Given the description of an element on the screen output the (x, y) to click on. 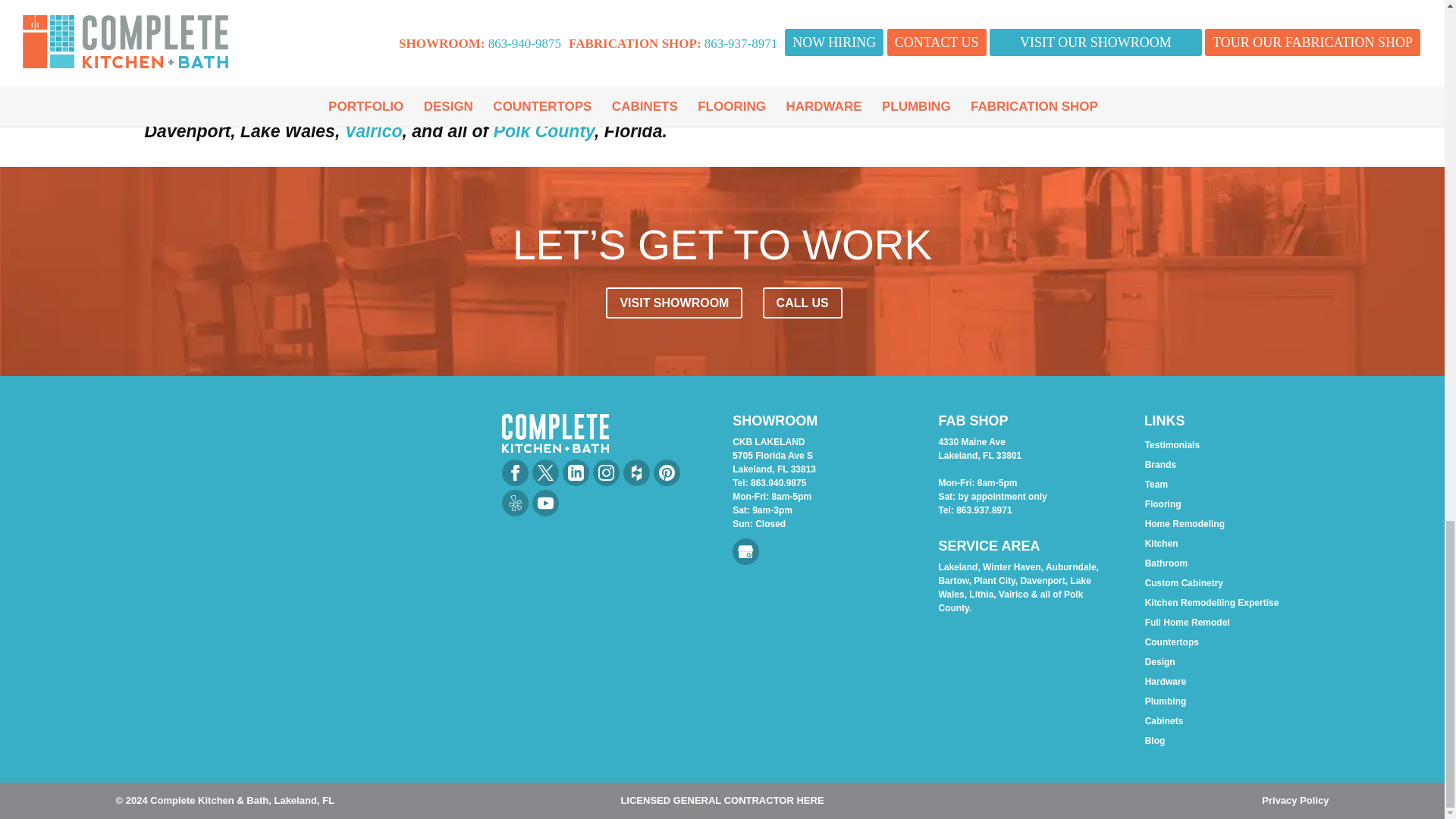
Houzz (636, 472)
Auburndale (997, 104)
Valrico (374, 130)
Facebook (514, 472)
Bartow (1084, 104)
Winter Haven (883, 104)
Lakeland (780, 104)
LinkedIn (575, 472)
Houzz (636, 472)
Pinterest (666, 472)
Yelp (514, 503)
Polk County (543, 130)
Plant City (1164, 104)
Facebook (515, 472)
Instagram (606, 472)
